Given the description of an element on the screen output the (x, y) to click on. 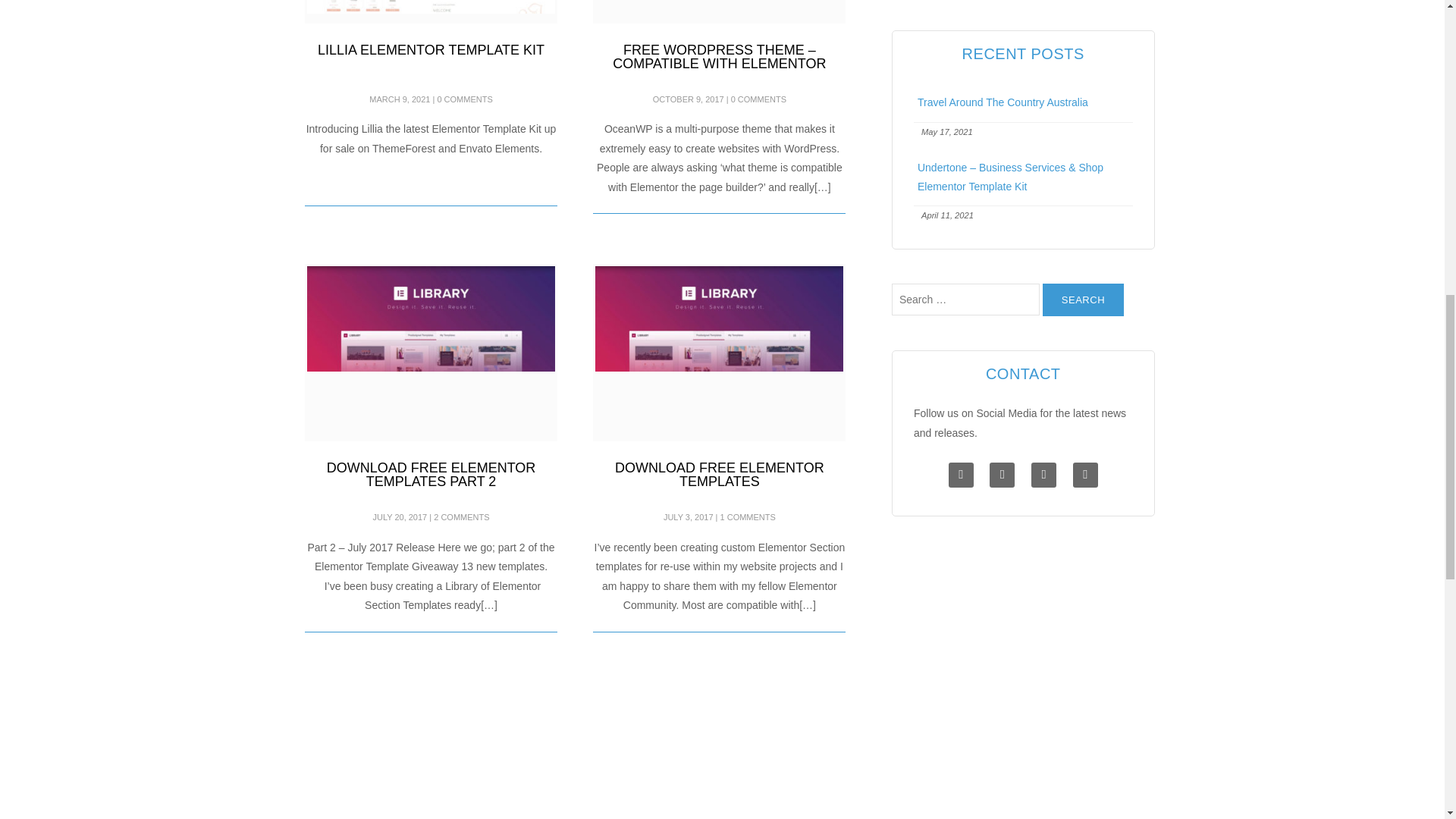
LILLIA ELEMENTOR TEMPLATE KIT (430, 49)
MARCH 9, 2021 (399, 98)
OCTOBER 9, 2017 (687, 98)
DOWNLOAD FREE ELEMENTOR TEMPLATES PART 2 (430, 474)
Search (1083, 299)
Search (1083, 299)
